Given the description of an element on the screen output the (x, y) to click on. 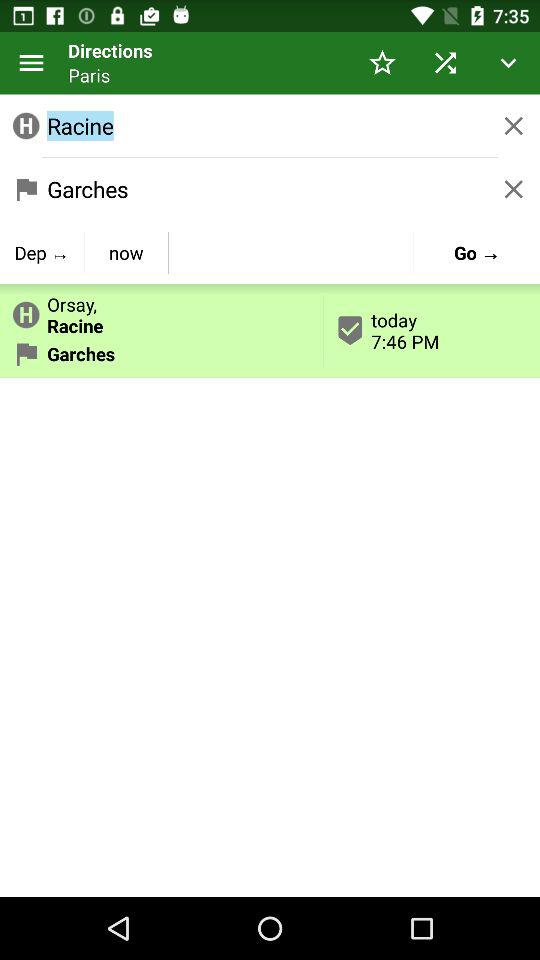
select item below garches icon (42, 252)
